Given the description of an element on the screen output the (x, y) to click on. 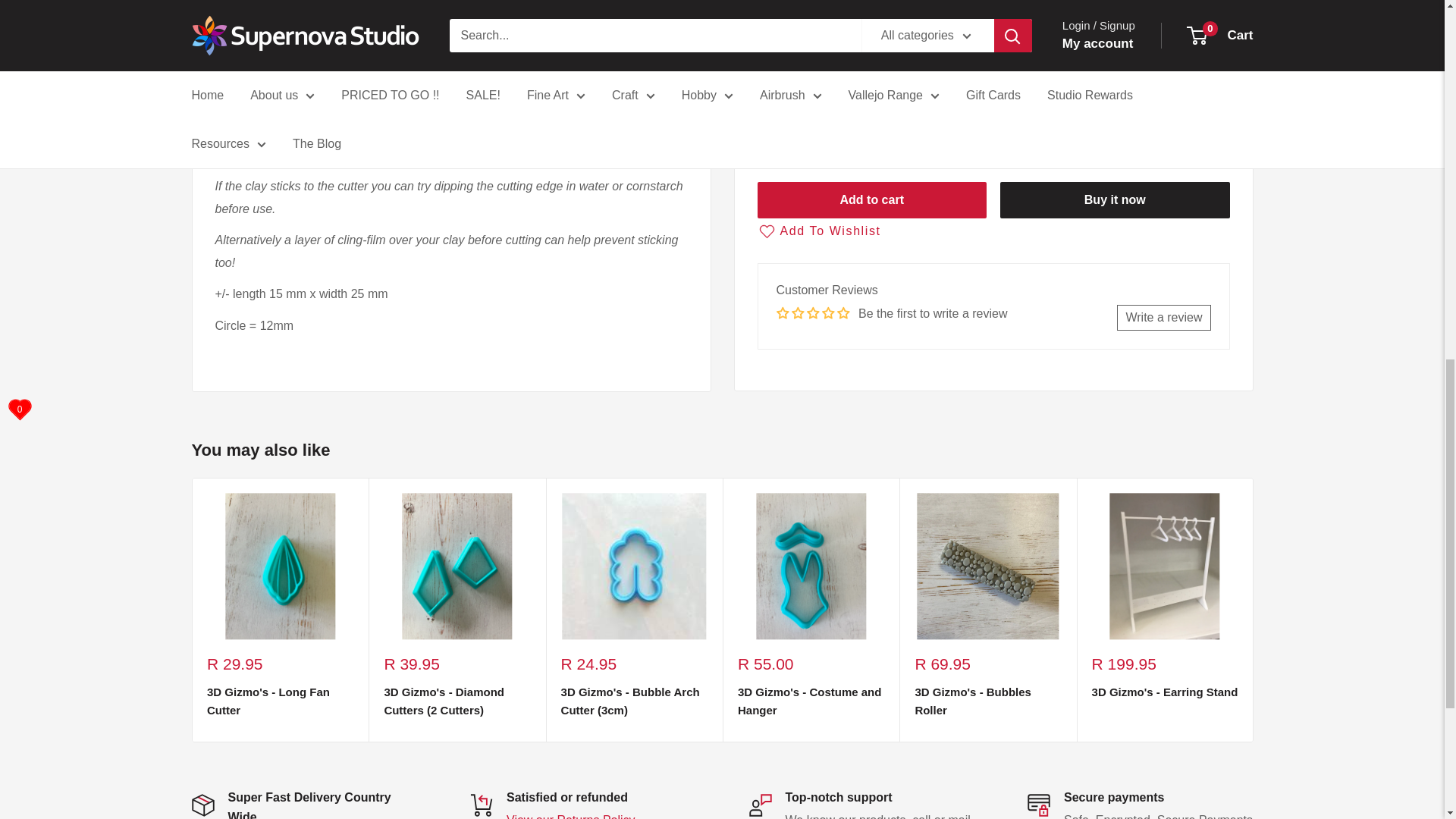
Returns (570, 816)
